Given the description of an element on the screen output the (x, y) to click on. 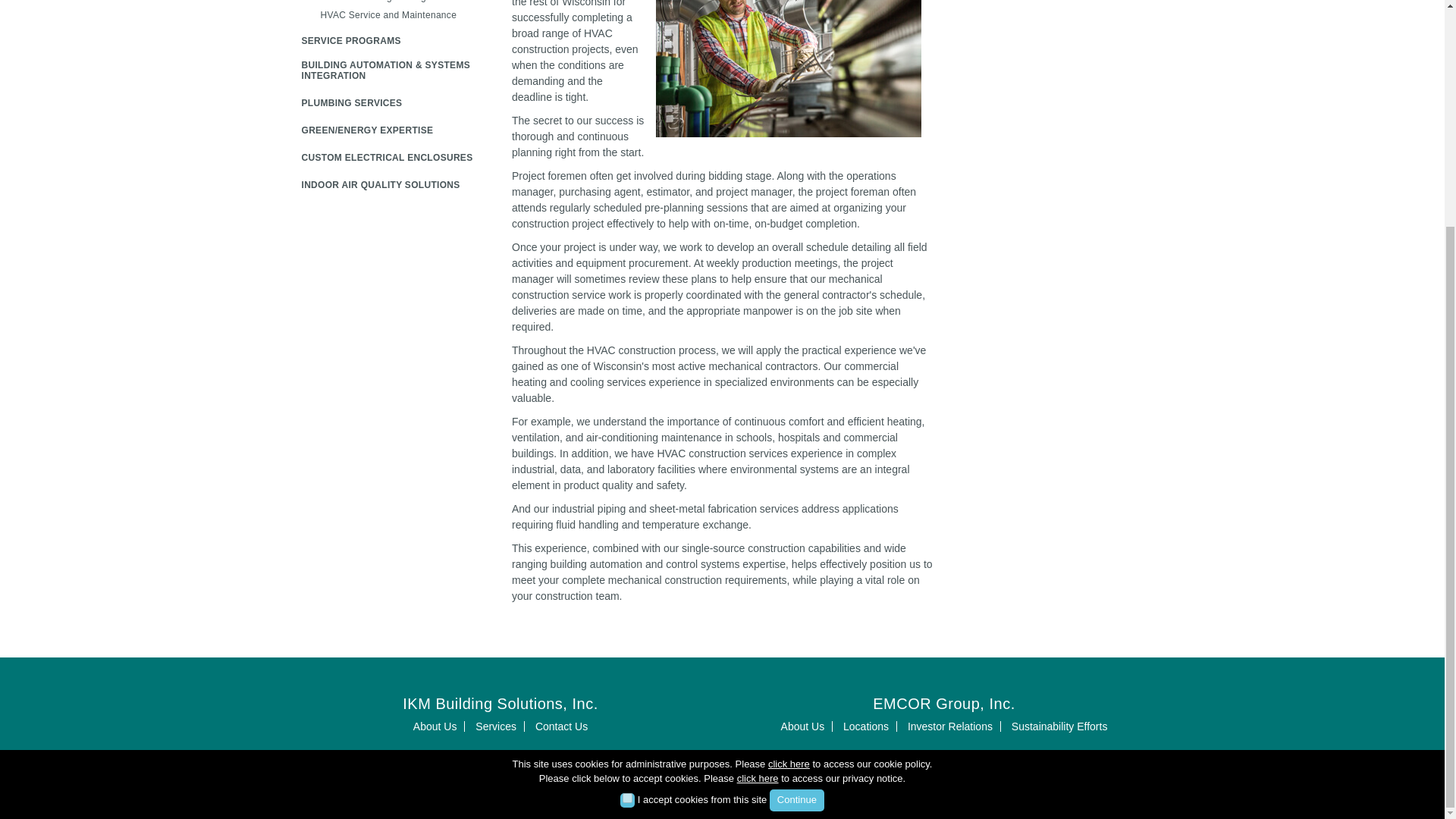
on (627, 493)
Continue (797, 495)
